Given the description of an element on the screen output the (x, y) to click on. 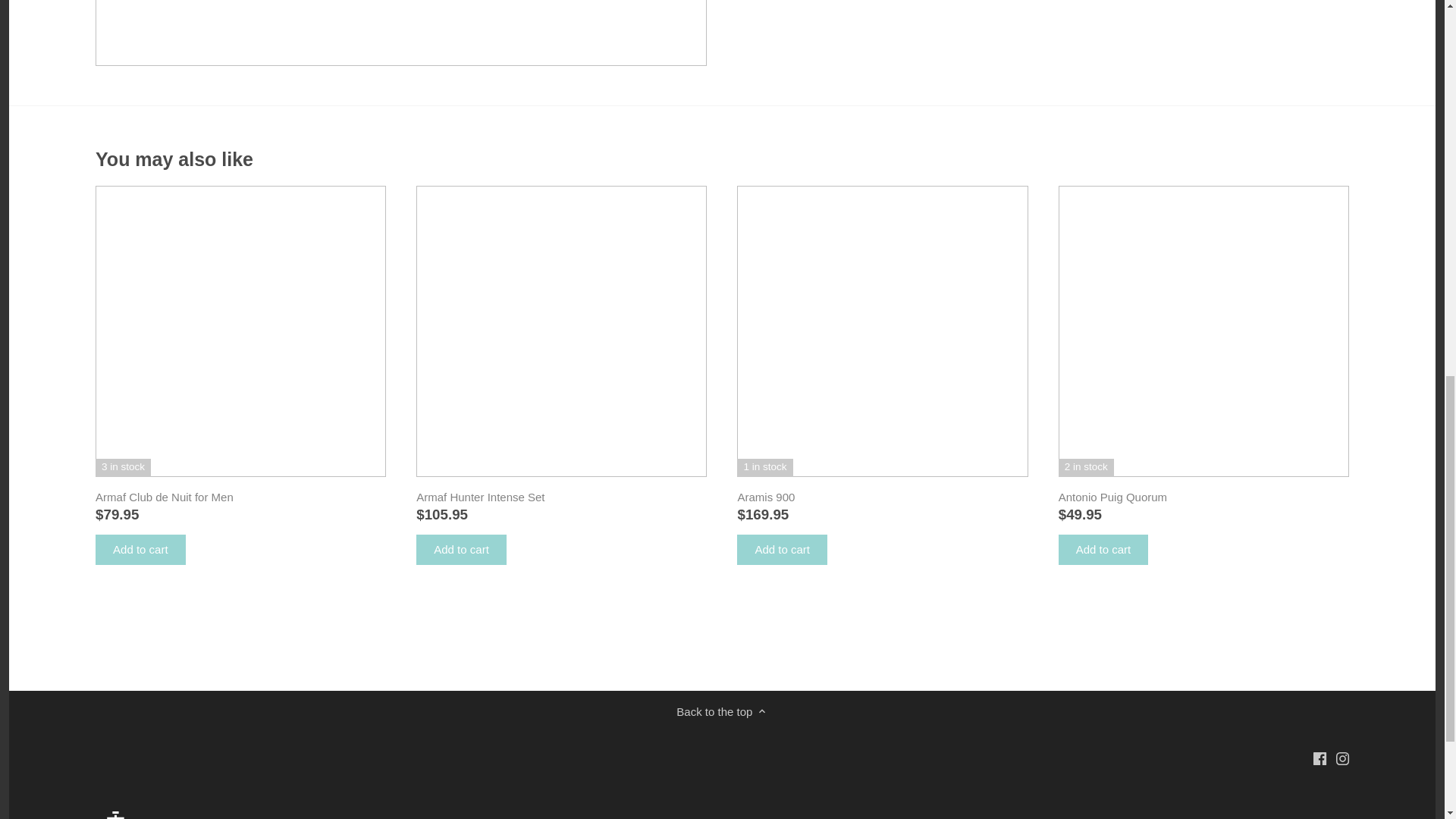
Armaf Club de Nuit for Men (240, 497)
Instagram (1342, 758)
Add to cart (461, 549)
Add to cart (141, 549)
Facebook (1319, 758)
Add to cart (781, 549)
Aramis 900 (881, 497)
Armaf Hunter Intense Set (561, 497)
